Given the description of an element on the screen output the (x, y) to click on. 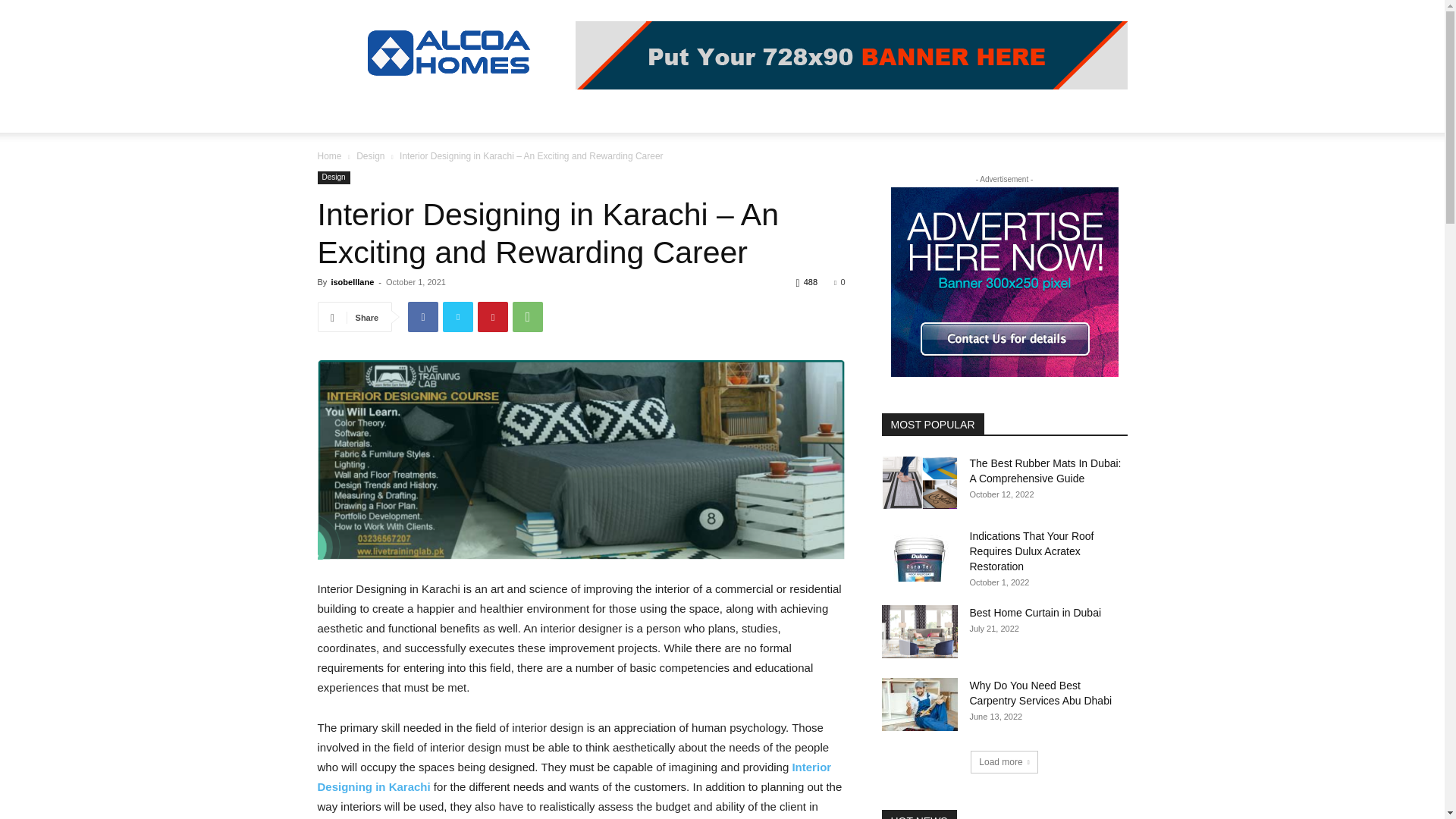
Interior Designing in Karachi (580, 459)
WRITE FOR US (834, 114)
LAWN AND GARDEN (568, 114)
HOME IMPROVEMENT (437, 114)
HOME (343, 114)
CONTACT (919, 114)
Design (370, 155)
LOG IN (750, 114)
View all posts in Design (370, 155)
Twitter (457, 317)
Pinterest (492, 317)
Home (328, 155)
FURNITURE (672, 114)
Search (1085, 174)
WhatsApp (527, 317)
